Given the description of an element on the screen output the (x, y) to click on. 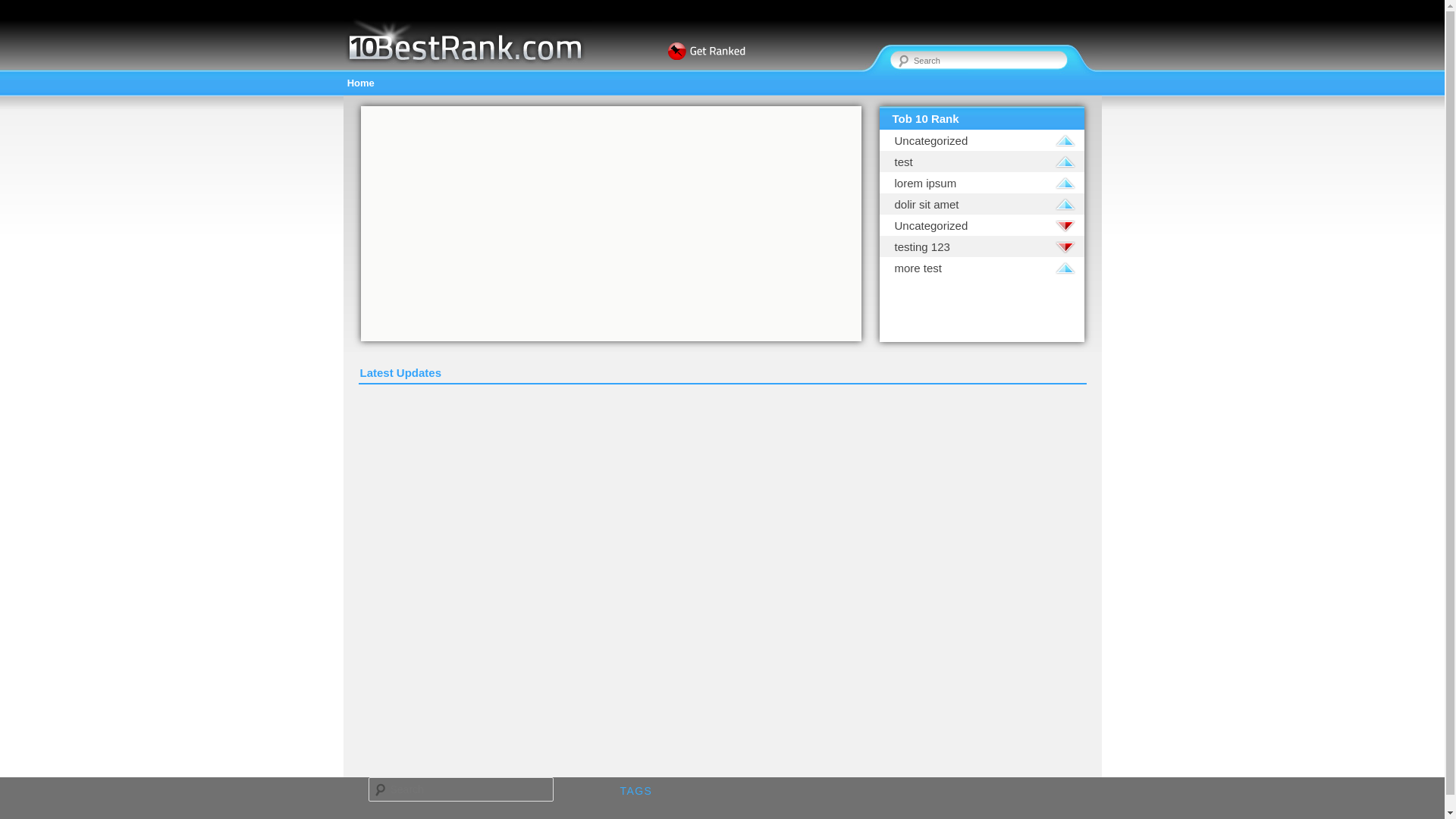
Uncategorized Element type: text (977, 139)
test Element type: text (977, 160)
Search Element type: text (24, 8)
Search Element type: text (20, 10)
Home Element type: text (360, 82)
more test Element type: text (977, 266)
dolir sit amet Element type: text (977, 203)
Uncategorized Element type: text (977, 224)
testing 123 Element type: text (977, 245)
lorem ipsum Element type: text (977, 181)
Register Your company Element type: hover (670, 59)
